Given the description of an element on the screen output the (x, y) to click on. 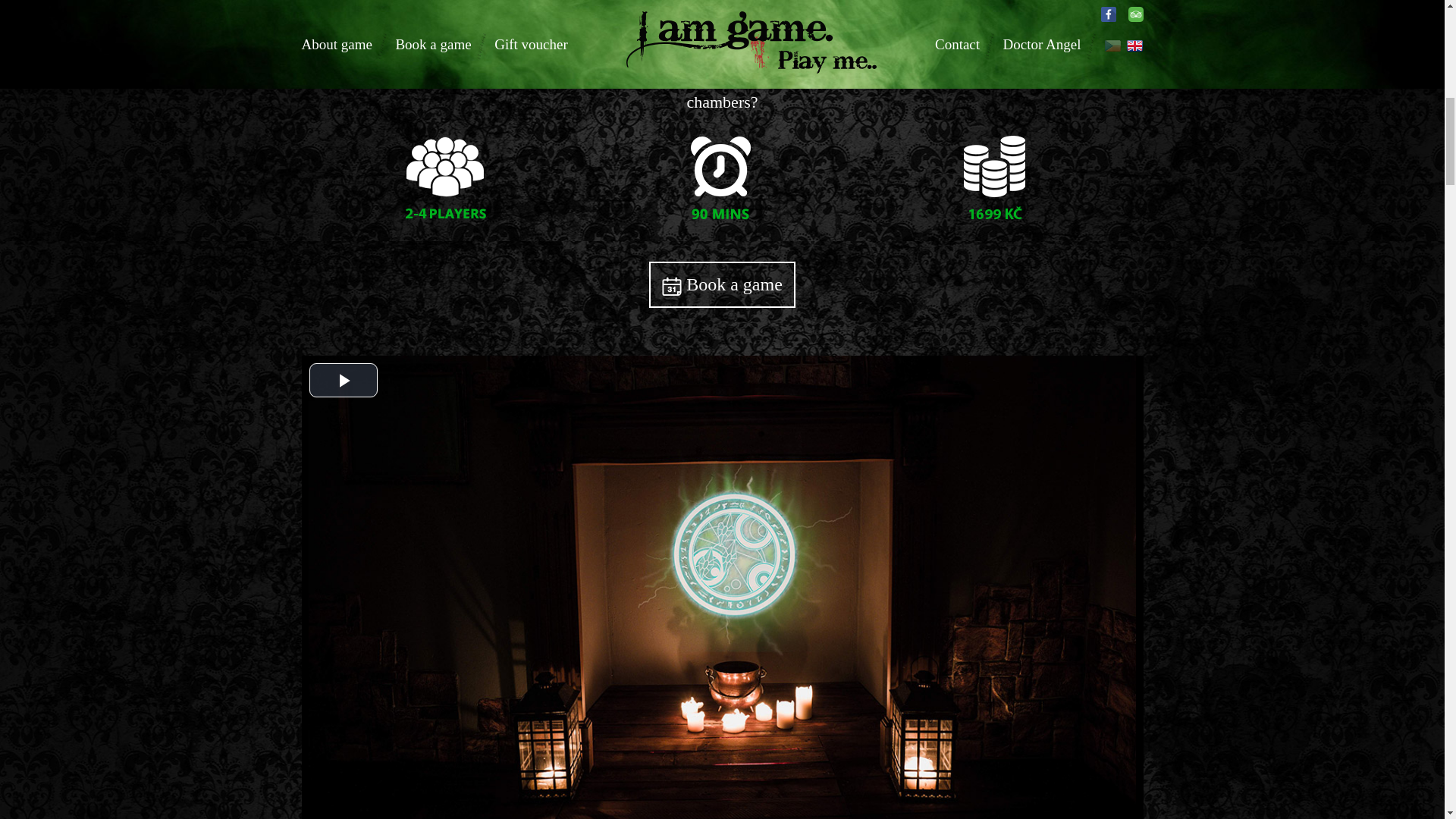
Play Video (342, 380)
Book a game (721, 284)
Play Video (342, 380)
